Given the description of an element on the screen output the (x, y) to click on. 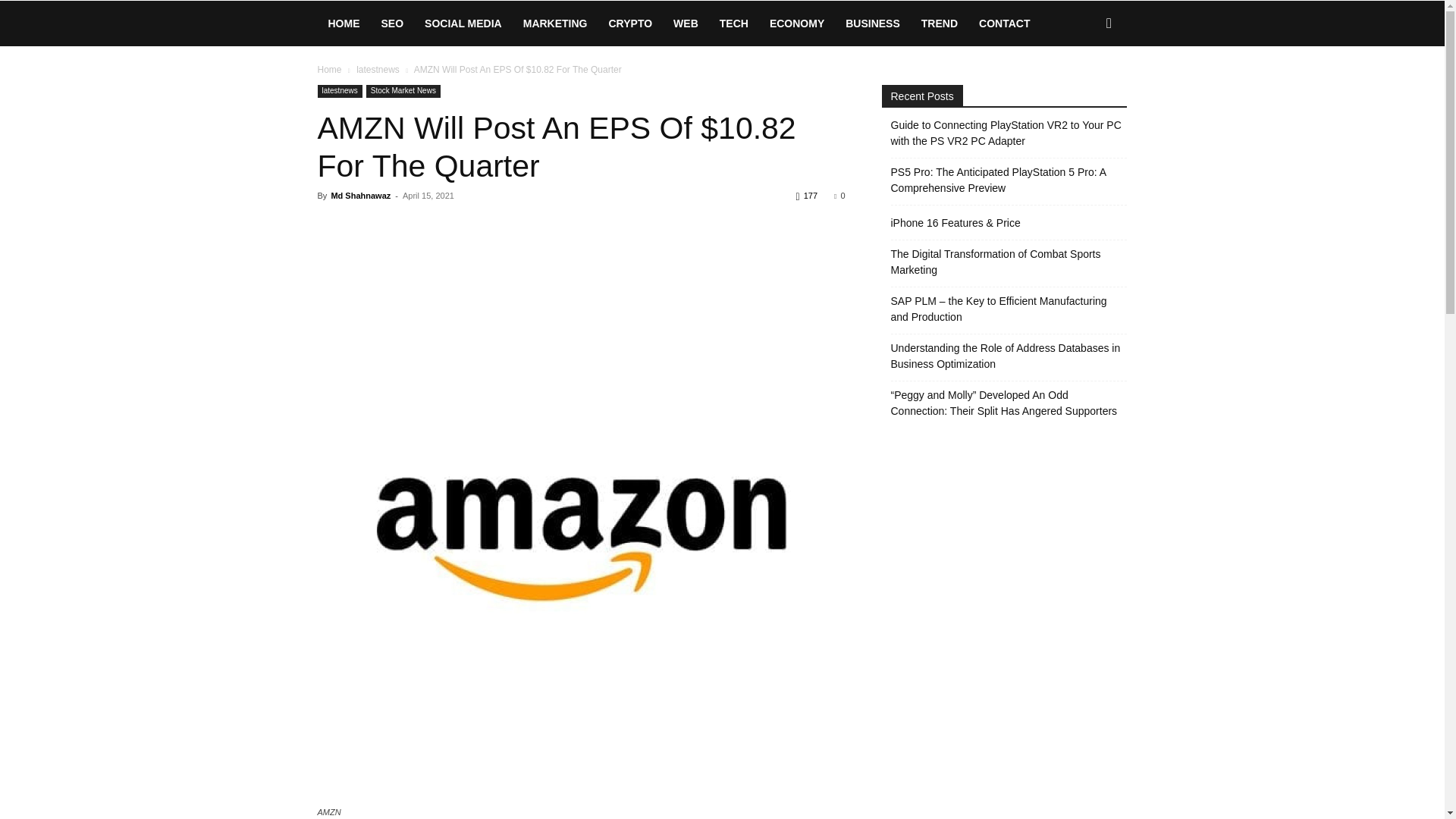
View all posts in latestnews (377, 69)
HOME (343, 22)
SOCIAL MEDIA (462, 22)
SEO (391, 22)
